Given the description of an element on the screen output the (x, y) to click on. 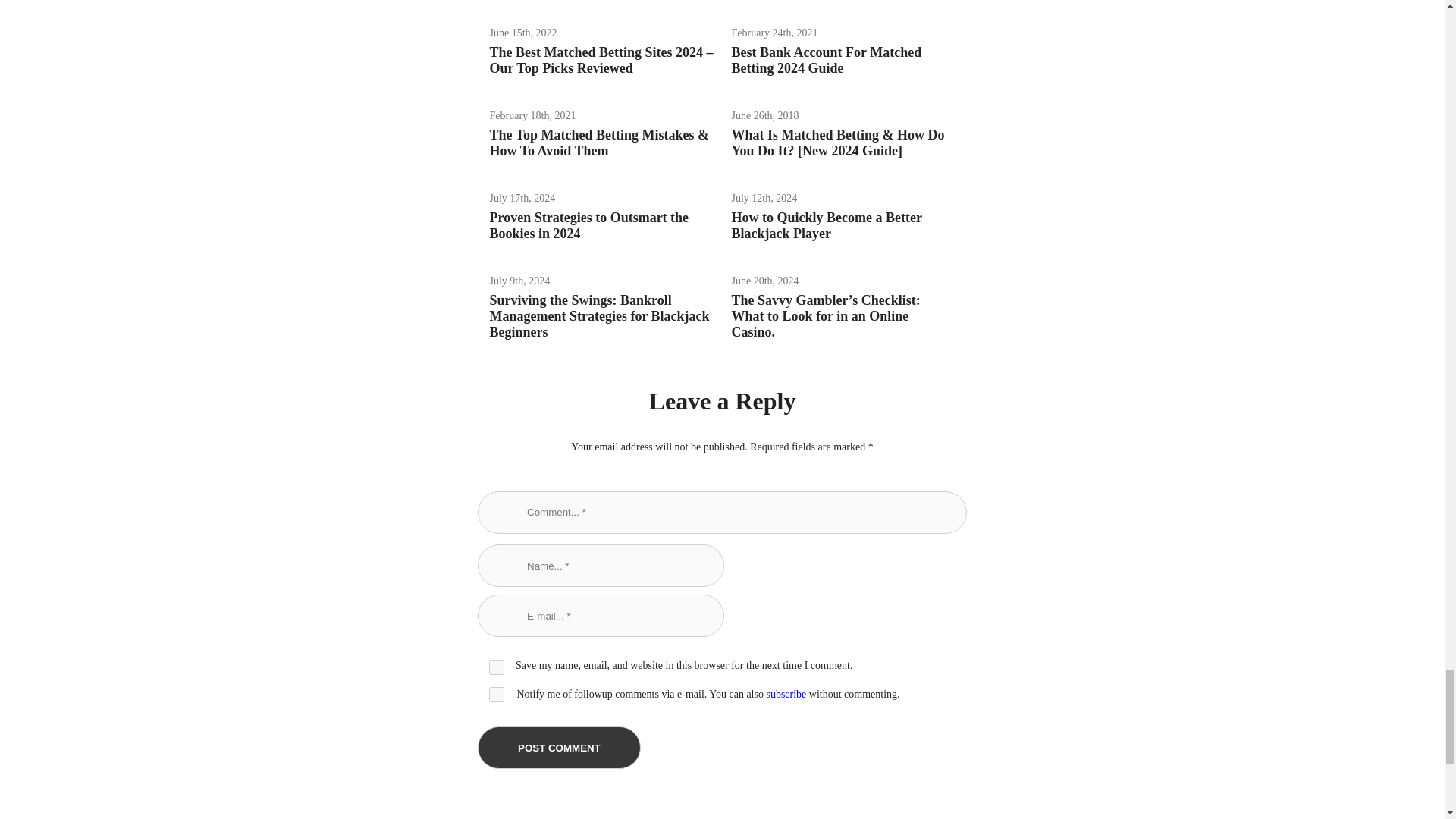
yes (496, 667)
How to Quickly Become a Better Blackjack Player (825, 224)
Proven Strategies to Outsmart the Bookies in 2024 (588, 224)
Post Comment (558, 747)
Best Bank Account For Matched Betting 2024 Guide (825, 60)
yes (496, 694)
subscribe (785, 694)
Post Comment (558, 747)
